Given the description of an element on the screen output the (x, y) to click on. 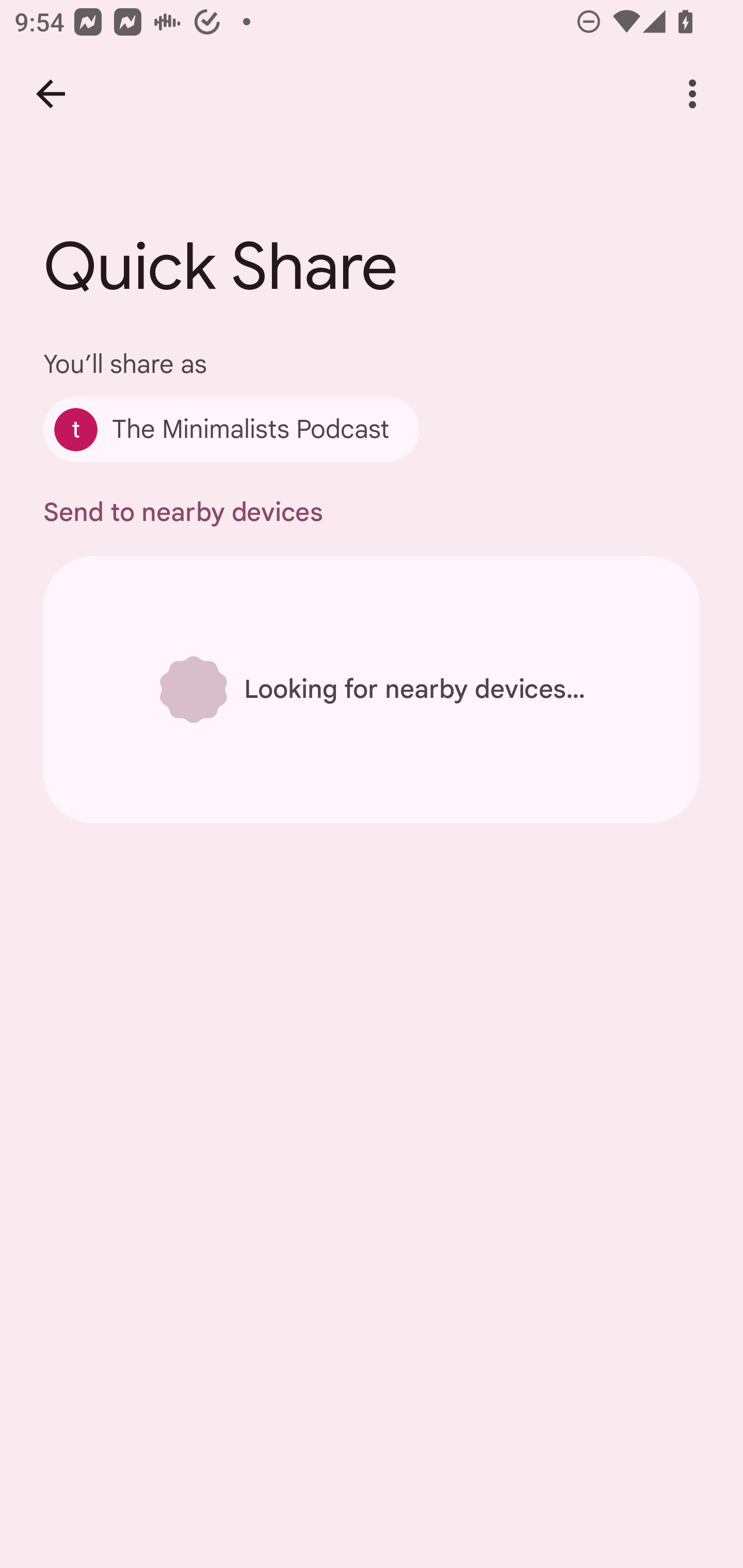
Back (50, 93)
More (692, 93)
The Minimalists Podcast (231, 429)
